Given the description of an element on the screen output the (x, y) to click on. 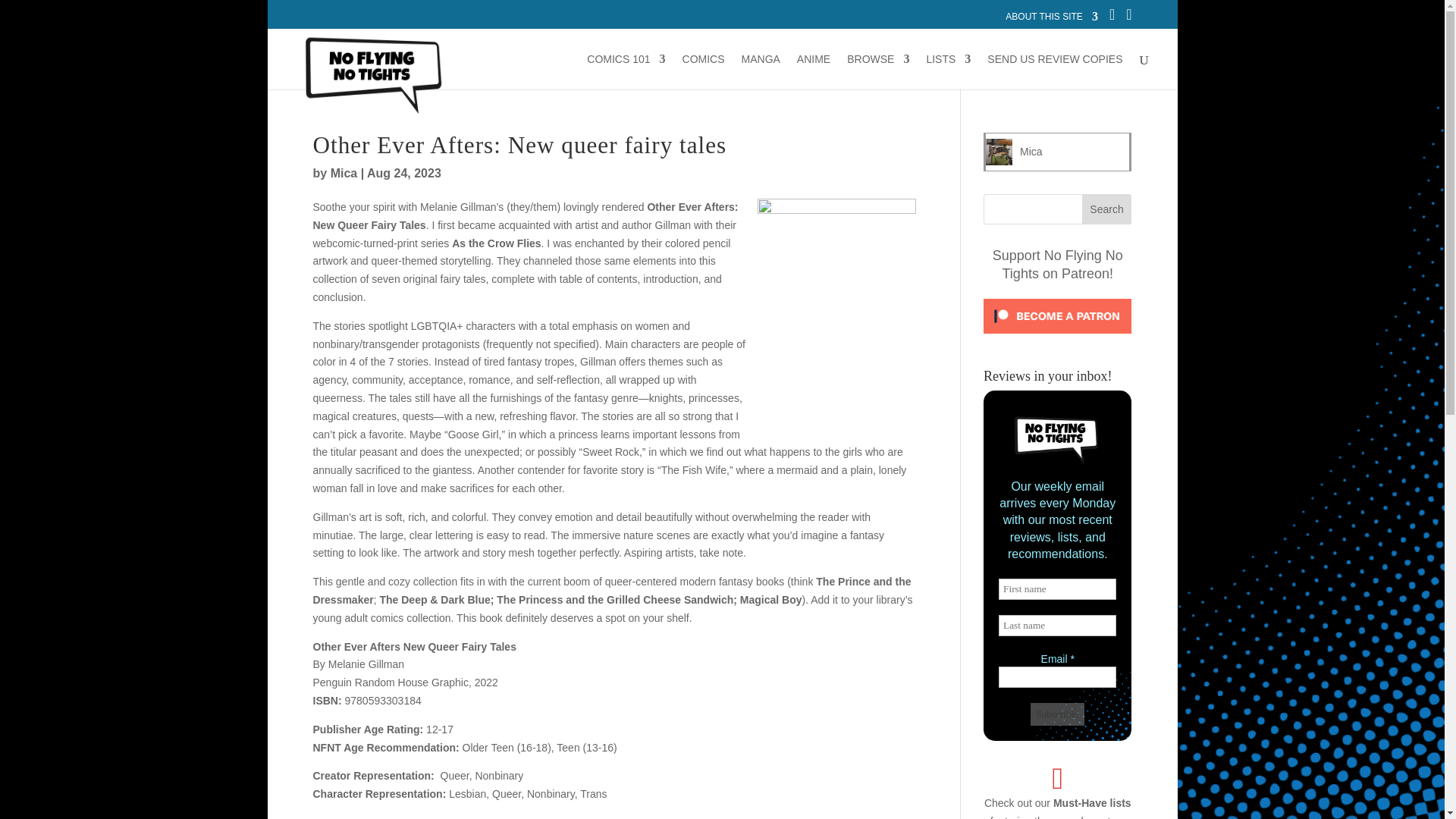
MANGA (760, 71)
Email (1057, 676)
Last name (1057, 625)
LISTS (948, 71)
ANIME (812, 71)
BROWSE (877, 71)
Subscribe! (1057, 713)
ABOUT THIS SITE (1051, 19)
SEND US REVIEW COPIES (1054, 71)
Search (1106, 209)
Posts by Mica (344, 173)
Mica (1031, 151)
COMICS (703, 71)
First name (1057, 588)
COMICS 101 (625, 71)
